Given the description of an element on the screen output the (x, y) to click on. 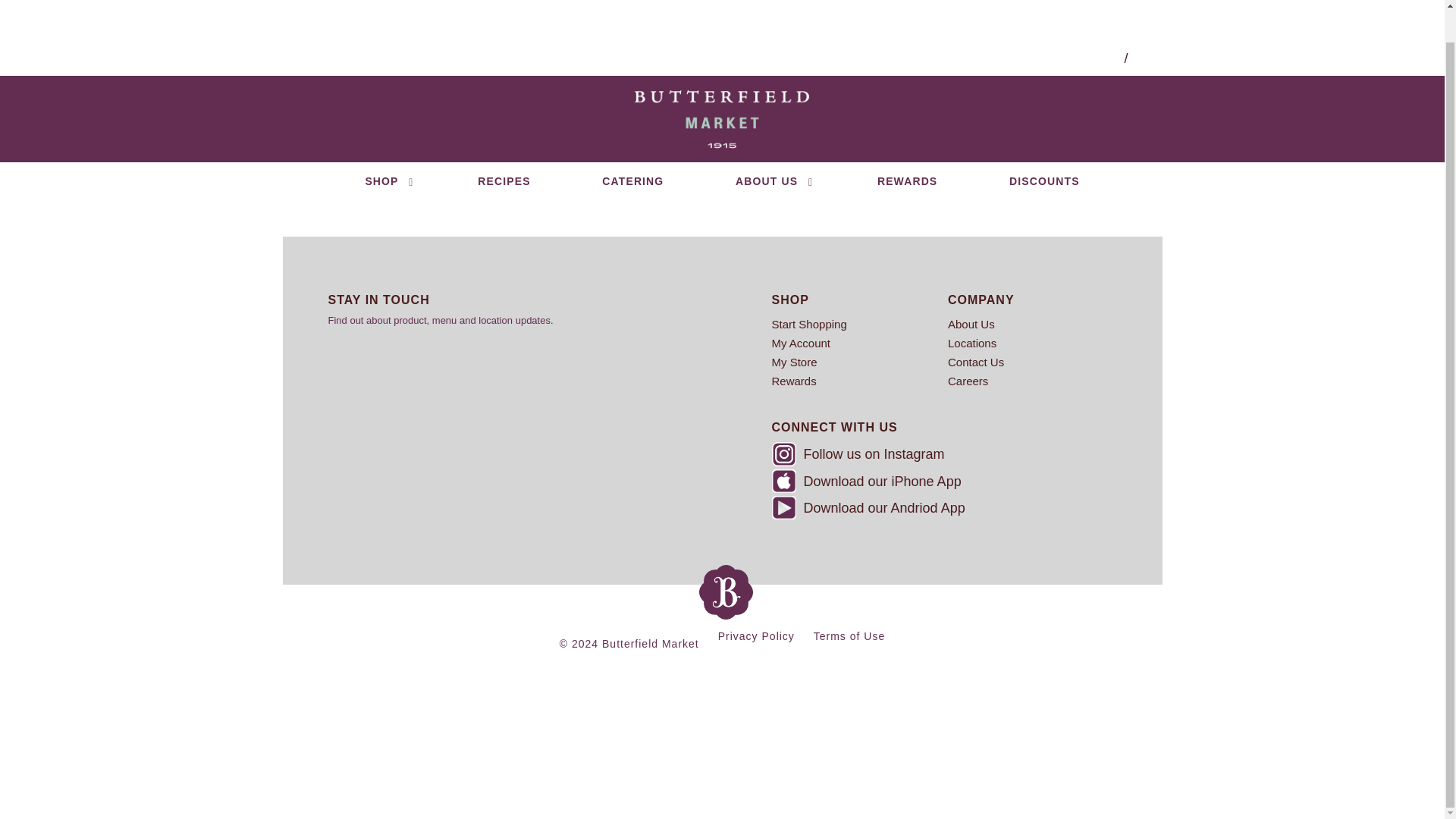
Contact Us (1035, 361)
RECIPES (503, 147)
iPhone (783, 481)
Visit us on Instagram (783, 454)
About Us (1035, 323)
My Account (860, 342)
DISCOUNTS (1043, 147)
Careers (1035, 380)
Start Shopping (860, 323)
My Store (860, 361)
View butterfieldnyc on Instagram (940, 455)
ABOUT US (769, 147)
Android (783, 507)
Privacy Policy (755, 635)
CATERING (633, 147)
